Given the description of an element on the screen output the (x, y) to click on. 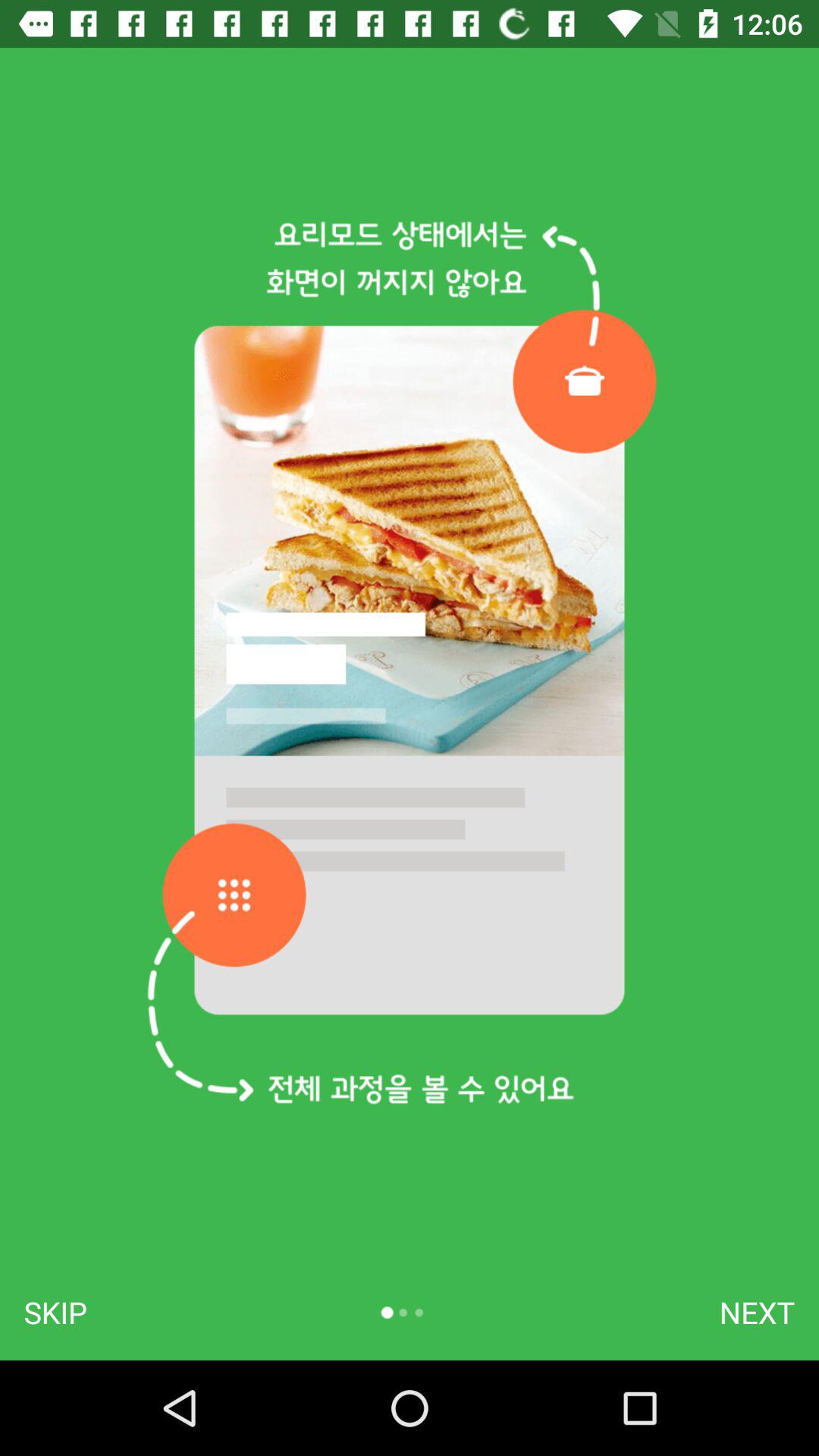
click next (757, 1312)
